Given the description of an element on the screen output the (x, y) to click on. 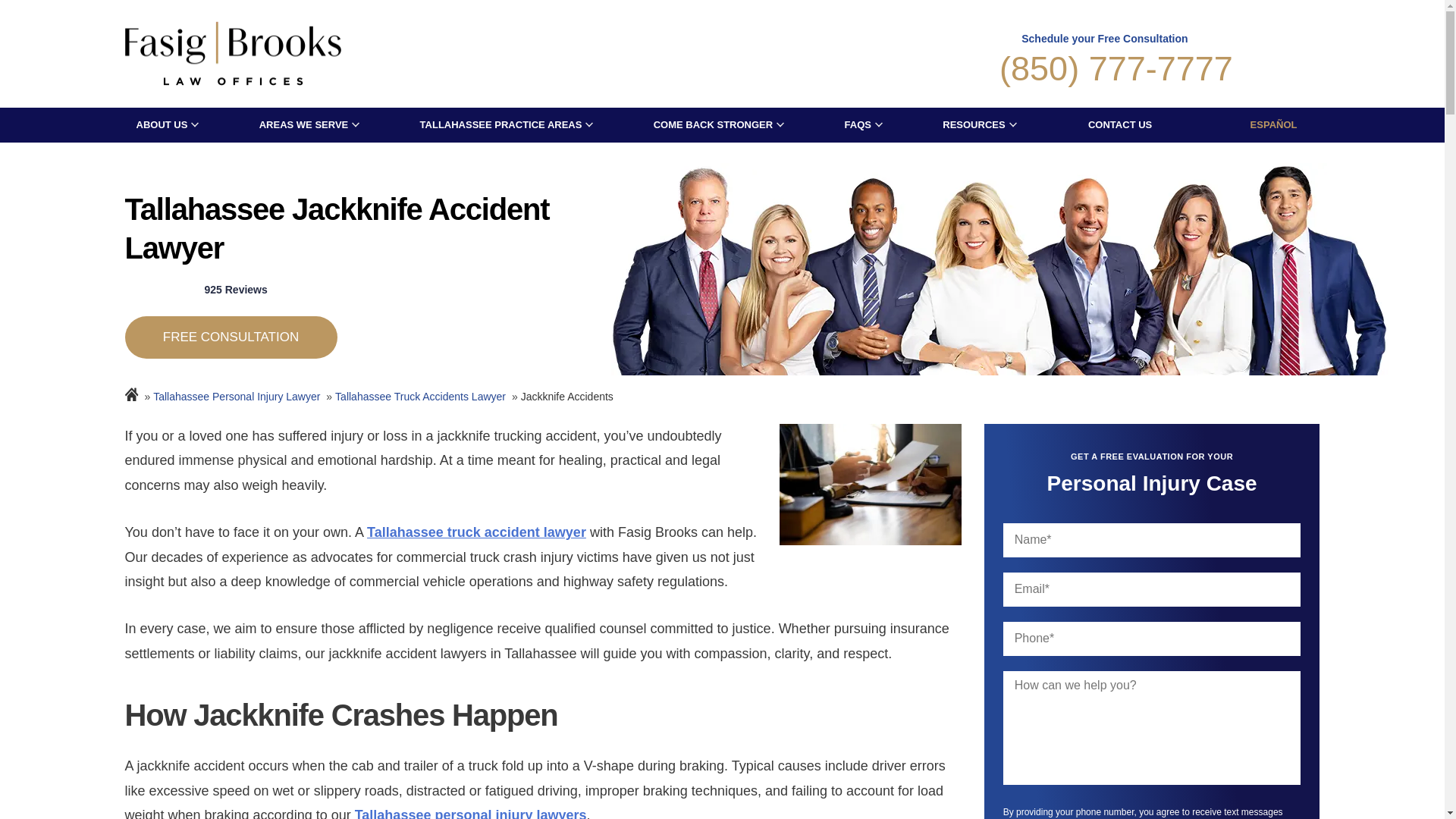
Blog (229, 337)
AREAS WE SERVE (304, 124)
ABOUT US (161, 124)
COME BACK STRONGER (713, 124)
Schedule your Free Consultation (1104, 54)
TALLAHASSEE PRACTICE AREAS (501, 124)
